Given the description of an element on the screen output the (x, y) to click on. 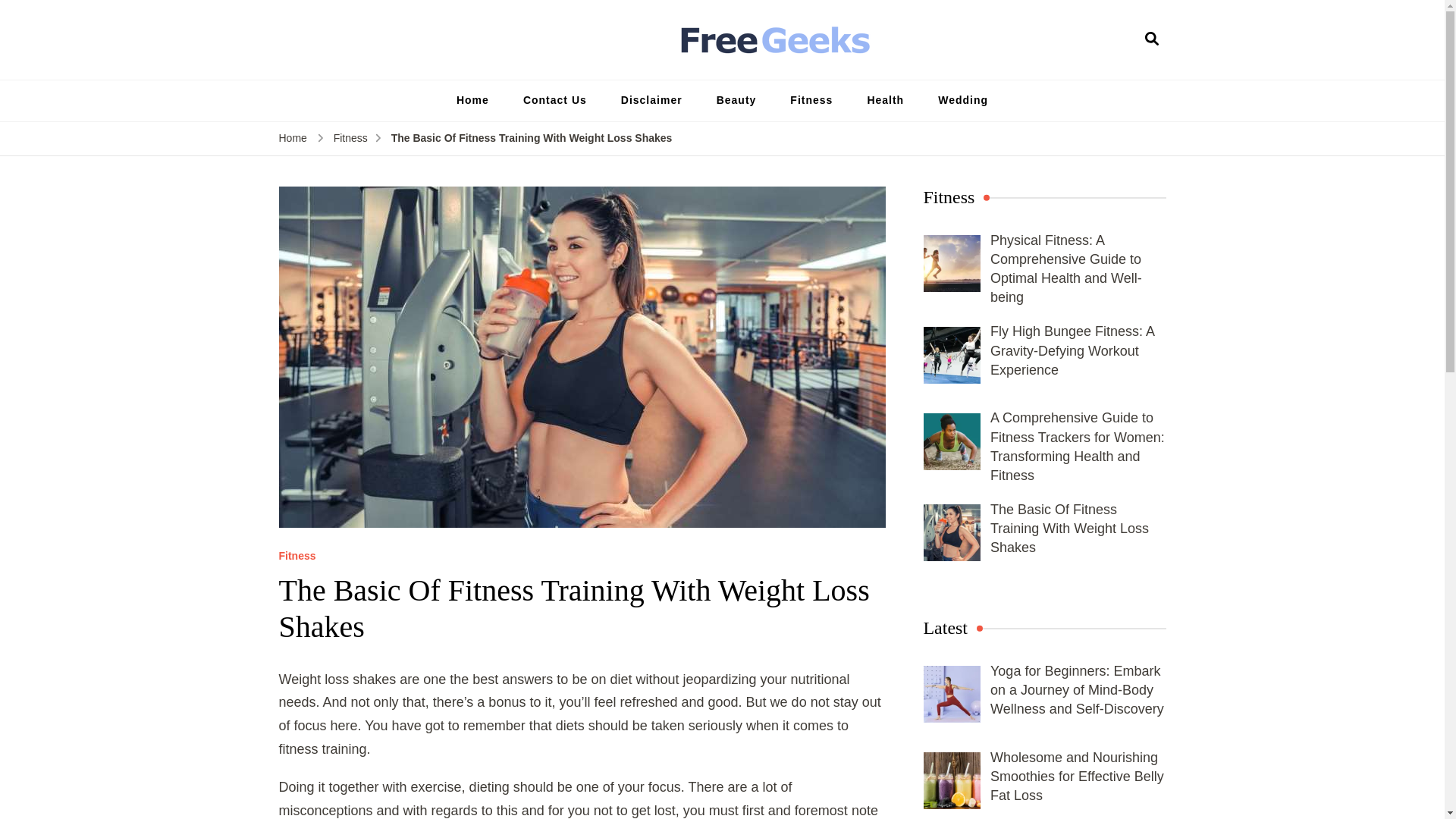
Home (293, 138)
The Basic Of Fitness Training With Weight Loss Shakes (1069, 528)
Fitness (810, 100)
Health (884, 100)
Disclaimer (651, 100)
Beauty (736, 100)
Home (472, 100)
Fitness (350, 138)
Wedding (963, 100)
The Basic Of Fitness Training With Weight Loss Shakes (531, 138)
Contact Us (555, 100)
